Given the description of an element on the screen output the (x, y) to click on. 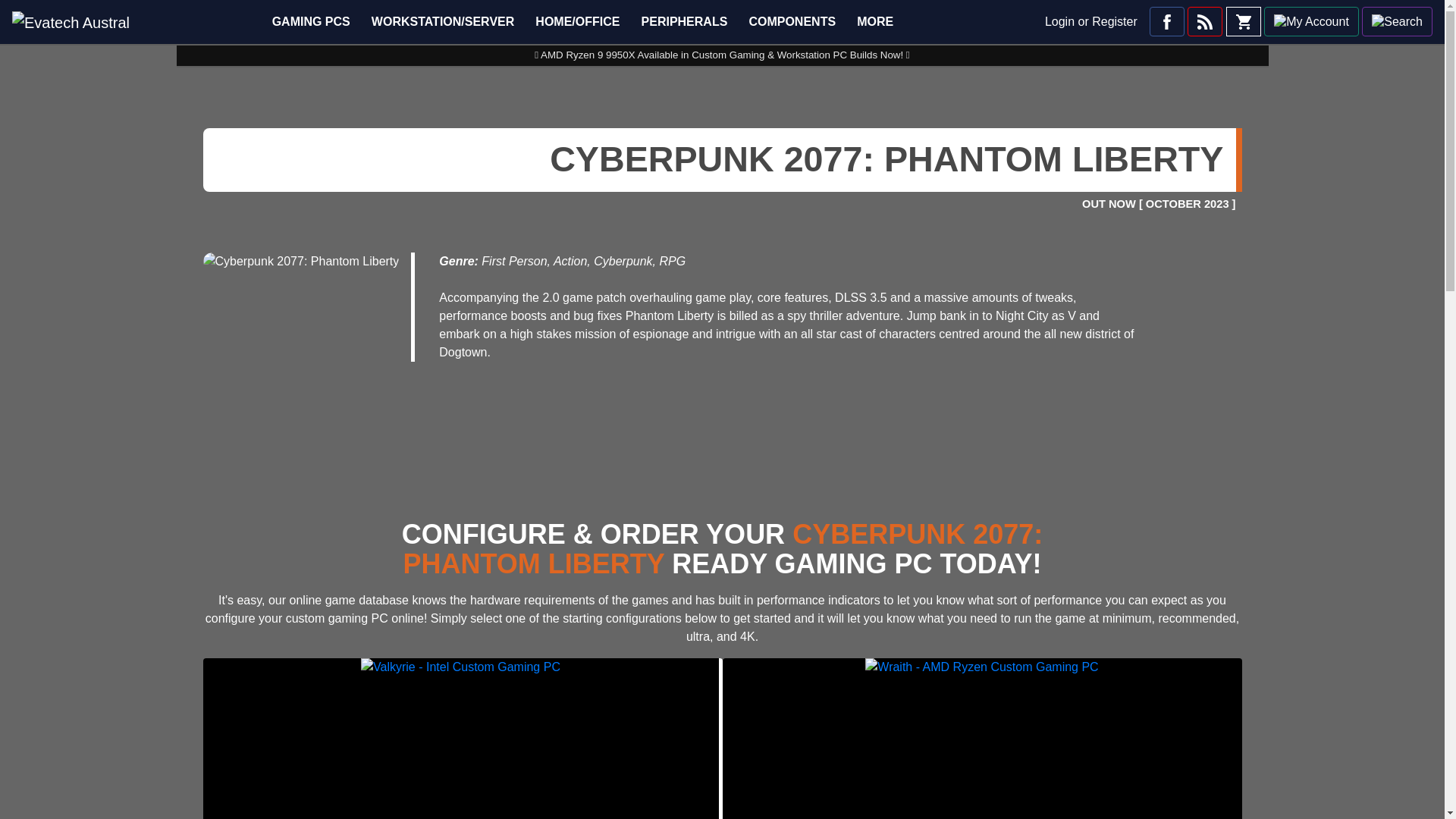
PERIPHERALS (688, 21)
GAMING PCS (315, 21)
COMPONENTS (796, 21)
